Given the description of an element on the screen output the (x, y) to click on. 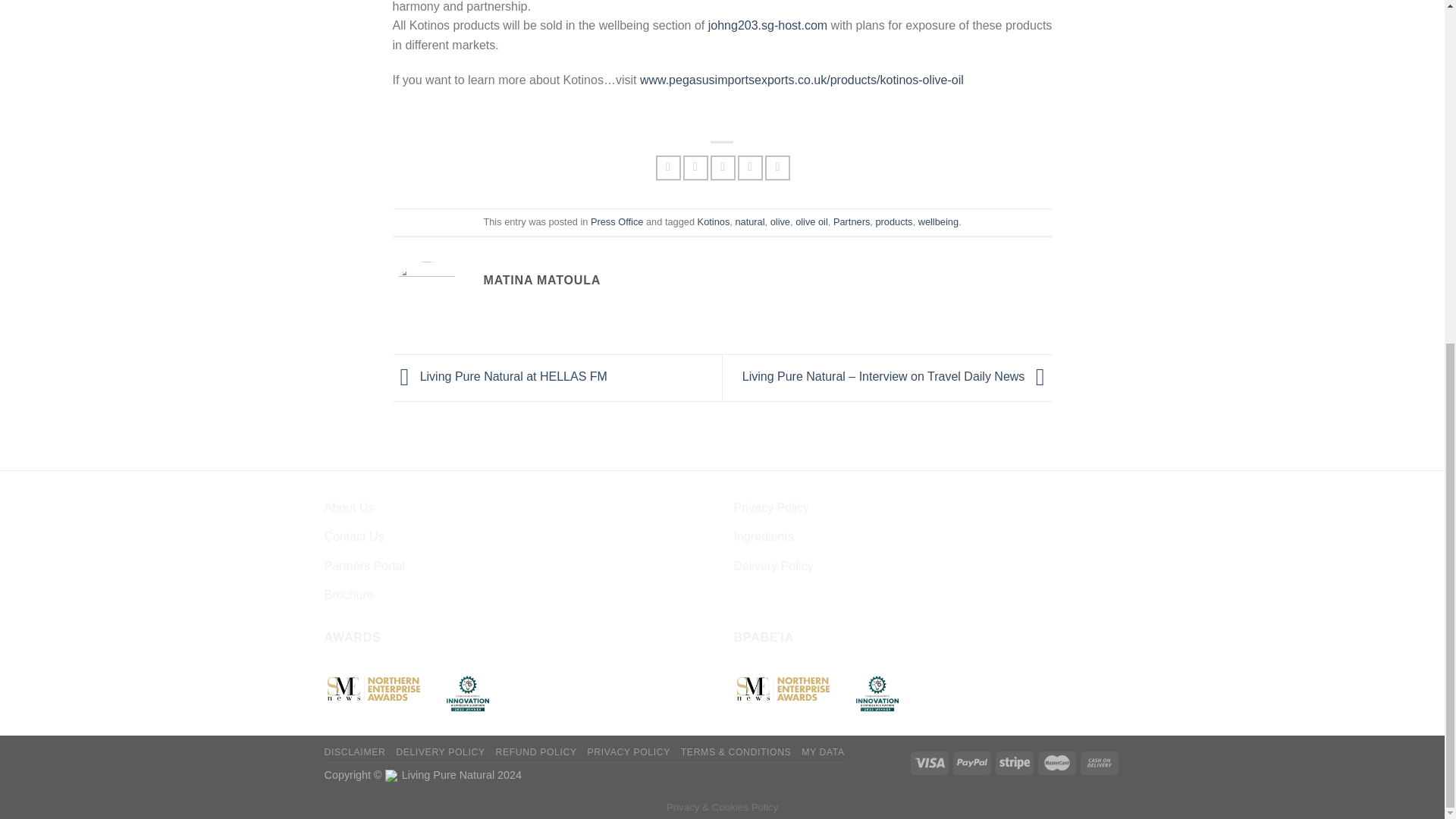
Press Office (617, 221)
Share on Facebook (668, 167)
Share on LinkedIn (777, 167)
Share on Twitter (694, 167)
Pin on Pinterest (750, 167)
Kotinos (713, 221)
Email to a Friend (722, 167)
johng203.sg-host.com (769, 24)
natural (749, 221)
